Given the description of an element on the screen output the (x, y) to click on. 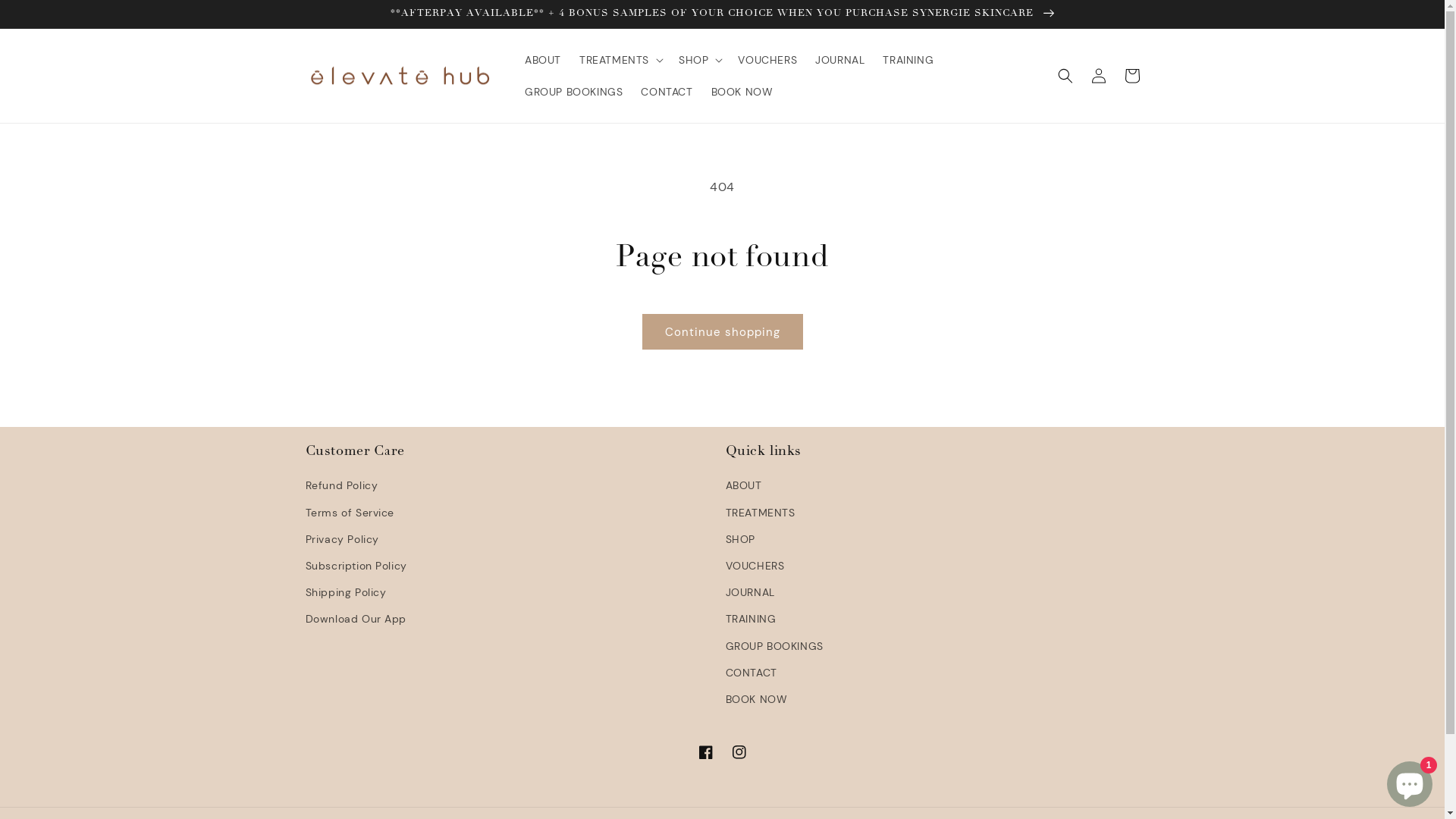
Cart Element type: text (1131, 75)
TRAINING Element type: text (749, 618)
Refund Policy Element type: text (340, 487)
VOUCHERS Element type: text (767, 59)
GROUP BOOKINGS Element type: text (773, 646)
Continue shopping Element type: text (721, 331)
Download Our App Element type: text (355, 618)
Shopify online store chat Element type: hover (1409, 780)
Facebook Element type: text (704, 751)
CONTACT Element type: text (666, 91)
ABOUT Element type: text (742, 487)
TREATMENTS Element type: text (759, 512)
VOUCHERS Element type: text (754, 565)
BOOK NOW Element type: text (755, 699)
Terms of Service Element type: text (349, 512)
Shipping Policy Element type: text (344, 592)
CONTACT Element type: text (750, 672)
Privacy Policy Element type: text (341, 539)
ABOUT Element type: text (542, 59)
TRAINING Element type: text (907, 59)
JOURNAL Element type: text (839, 59)
JOURNAL Element type: text (749, 592)
Log in Element type: text (1097, 75)
Instagram Element type: text (738, 751)
BOOK NOW Element type: text (742, 91)
SHOP Element type: text (739, 539)
GROUP BOOKINGS Element type: text (573, 91)
Subscription Policy Element type: text (355, 565)
